Given the description of an element on the screen output the (x, y) to click on. 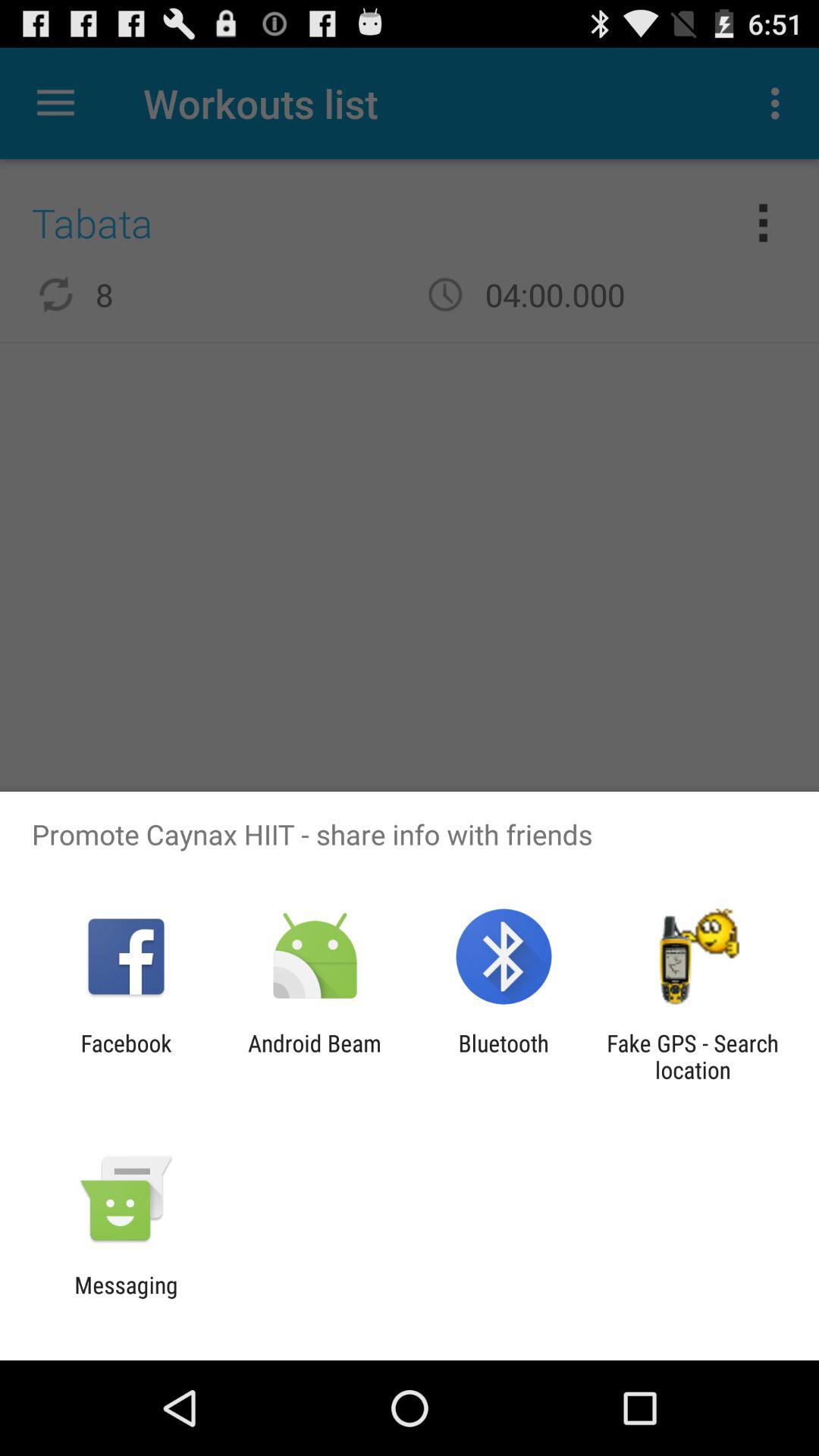
press the app to the right of the facebook icon (314, 1056)
